Given the description of an element on the screen output the (x, y) to click on. 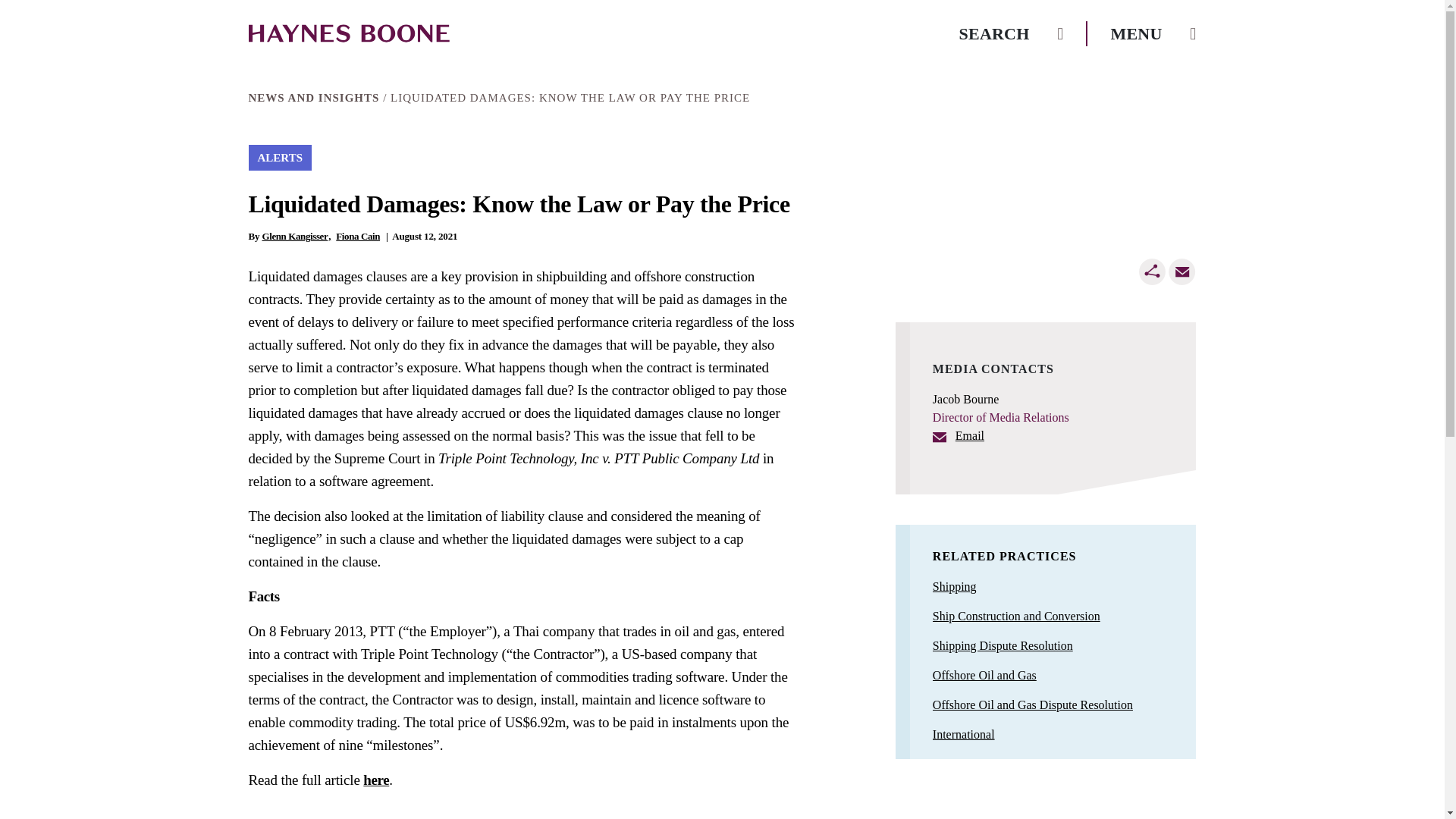
Fiona Cain (358, 235)
International (963, 734)
SEARCH (1011, 33)
Glenn Kangisser (297, 235)
here (375, 779)
Offshore Oil and Gas (984, 675)
Email (958, 435)
Email (1182, 270)
MENU (1152, 33)
Haynes Boone (348, 33)
Offshore Oil and Gas Dispute Resolution (1032, 703)
Menu (1152, 33)
Search (1011, 33)
Shipping Dispute Resolution (1003, 644)
Shipping (954, 585)
